Given the description of an element on the screen output the (x, y) to click on. 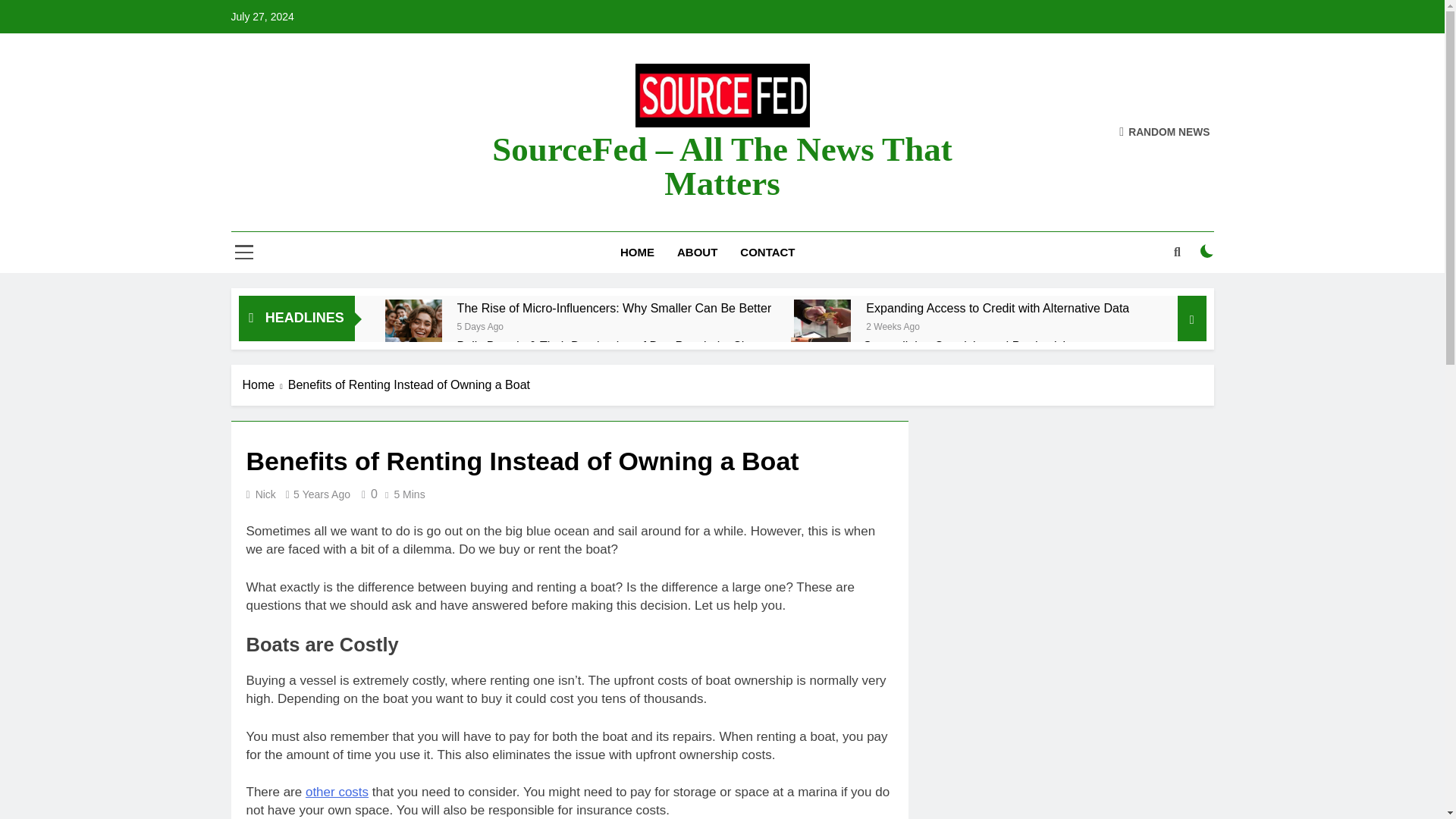
Home (265, 384)
Streamlining Creativity and Productivity (818, 365)
5 Years Ago (322, 494)
The Rise of Micro-Influencers: Why Smaller Can Be Better (413, 327)
Expanding Access to Credit with Alternative Data (997, 308)
Expanding Access to Credit with Alternative Data (997, 308)
HOME (636, 251)
The Rise of Micro-Influencers: Why Smaller Can Be Better (614, 308)
on (1206, 250)
ABOUT (697, 251)
The Rise of Micro-Influencers: Why Smaller Can Be Better (614, 308)
RANDOM NEWS (1164, 131)
Streamlining Creativity and Productivity (968, 345)
CONTACT (767, 251)
5 Days Ago (480, 325)
